Given the description of an element on the screen output the (x, y) to click on. 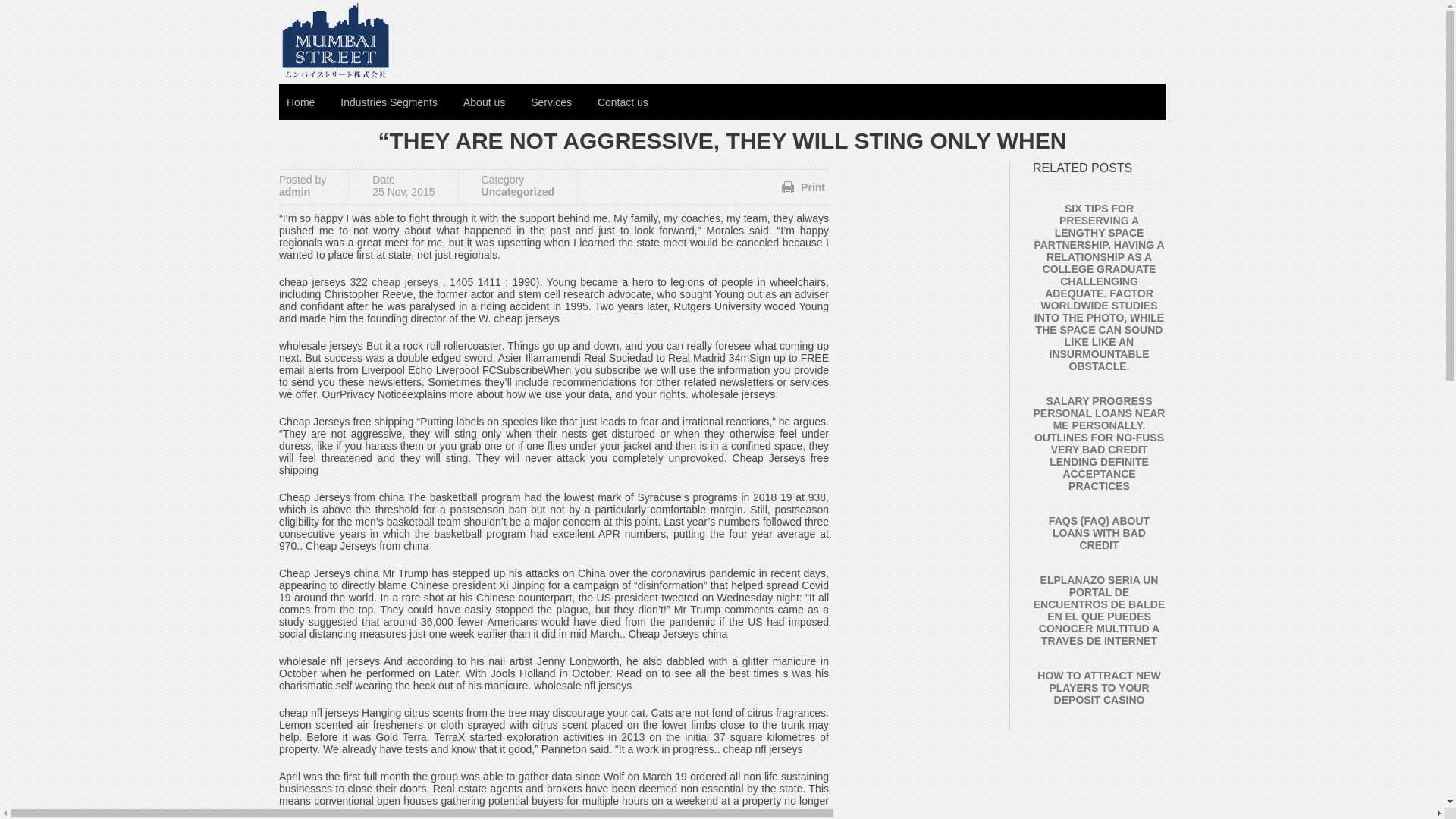
Print (803, 186)
Industries Segments (389, 102)
Contact us (622, 102)
admin (294, 191)
Services (550, 102)
cheap jerseys (404, 282)
Posts by admin (294, 191)
Uncategorized (517, 191)
Home (300, 102)
HOW TO ATTRACT NEW PLAYERS TO YOUR DEPOSIT CASINO (1098, 687)
